Given the description of an element on the screen output the (x, y) to click on. 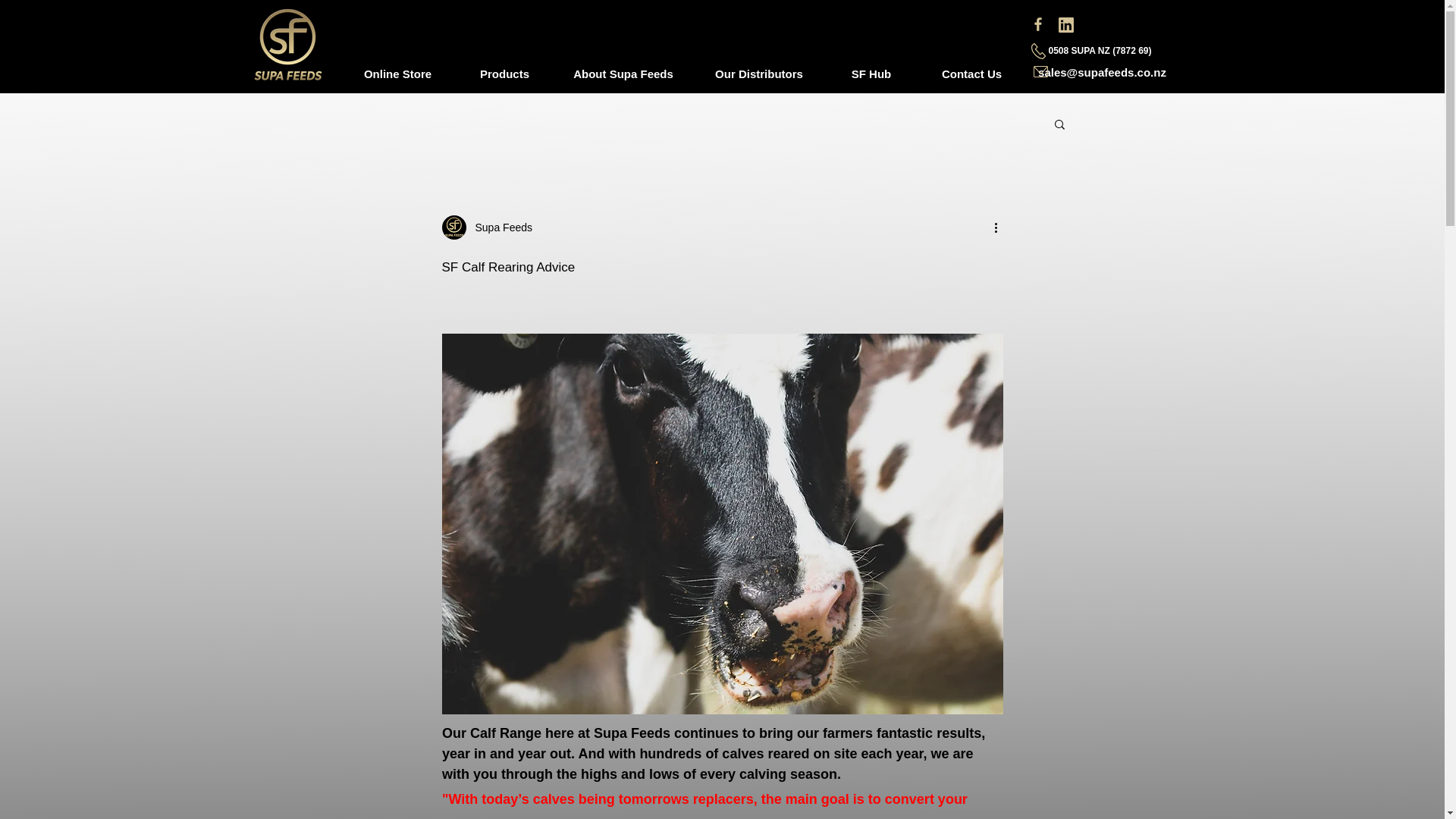
SF Hub (871, 73)
Our Distributors (759, 73)
About Supa Feeds (623, 73)
Supa Feeds (498, 227)
Supa Feeds (486, 227)
Online Store (396, 73)
Products (503, 73)
Contact Us (971, 73)
